Given the description of an element on the screen output the (x, y) to click on. 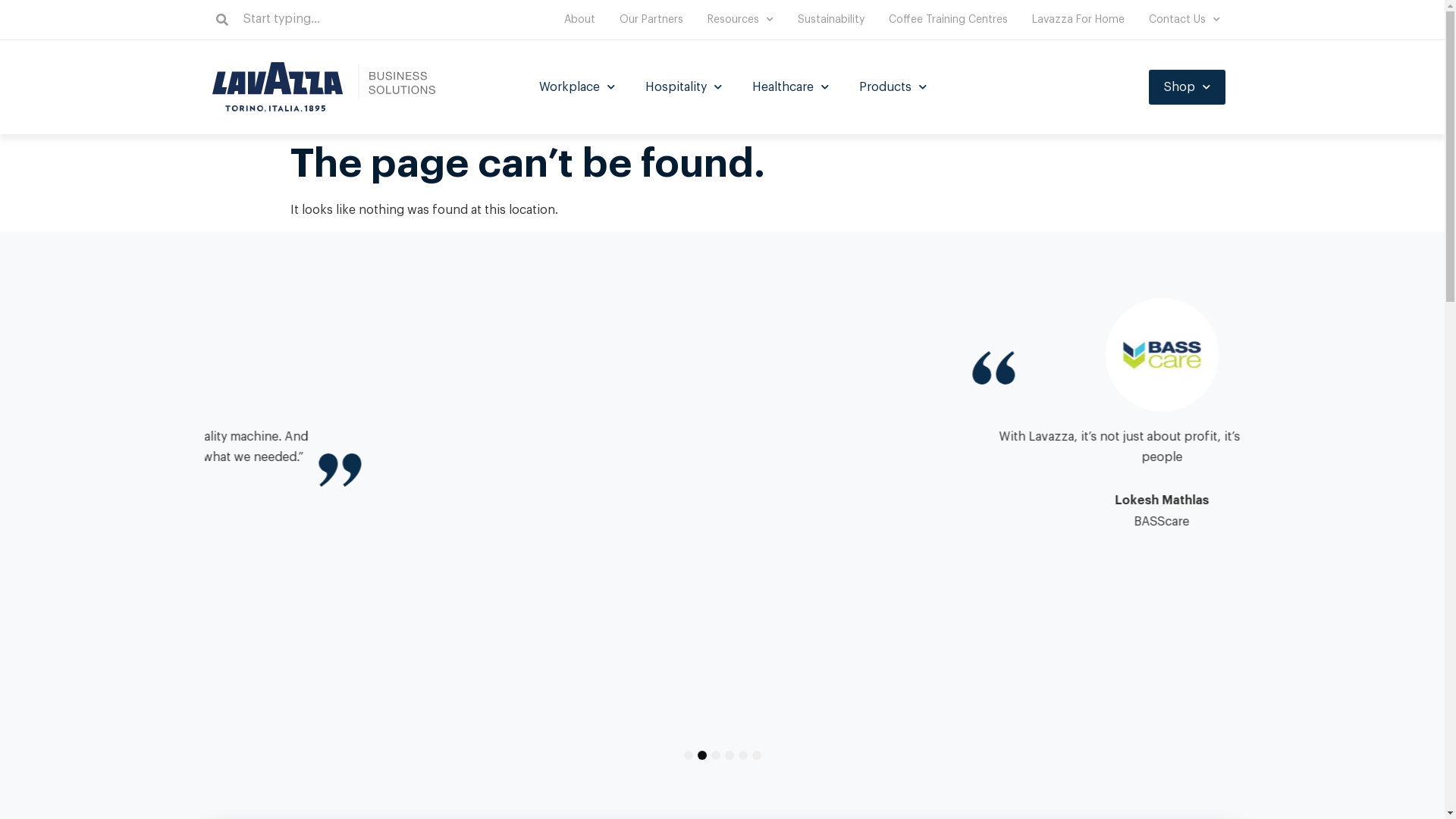
Hospitality Element type: text (683, 86)
Healthcare Element type: text (790, 86)
Coffee Training Centres Element type: text (947, 19)
Lavazza For Home Element type: text (1077, 19)
Sustainability Element type: text (830, 19)
About Element type: text (579, 19)
Our Partners Element type: text (651, 19)
Shop Element type: text (1186, 86)
Contact Us Element type: text (1184, 19)
Products Element type: text (892, 86)
Resources Element type: text (740, 19)
Workplace Element type: text (577, 86)
